Given the description of an element on the screen output the (x, y) to click on. 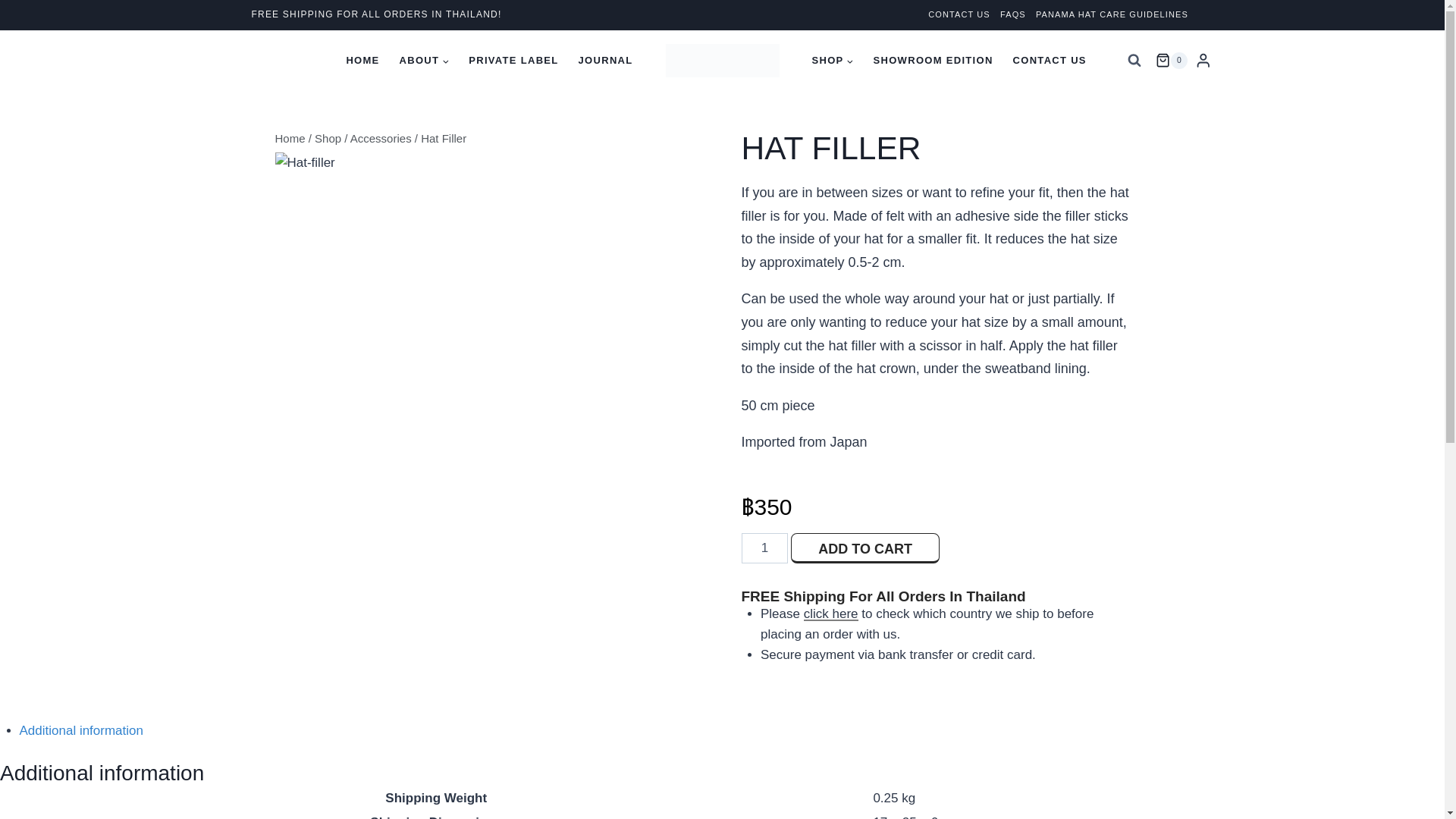
click here (831, 613)
PANAMA HAT CARE GUIDELINES (1111, 14)
Home (289, 137)
Accessories (381, 137)
PRIVATE LABEL (512, 60)
ADD TO CART (864, 548)
ABOUT (425, 60)
SHOP (832, 60)
JOURNAL (606, 60)
CONTACT US (959, 14)
SHOWROOM EDITION (933, 60)
CONTACT US (1049, 60)
FAQS (1012, 14)
0 (1172, 60)
